Given the description of an element on the screen output the (x, y) to click on. 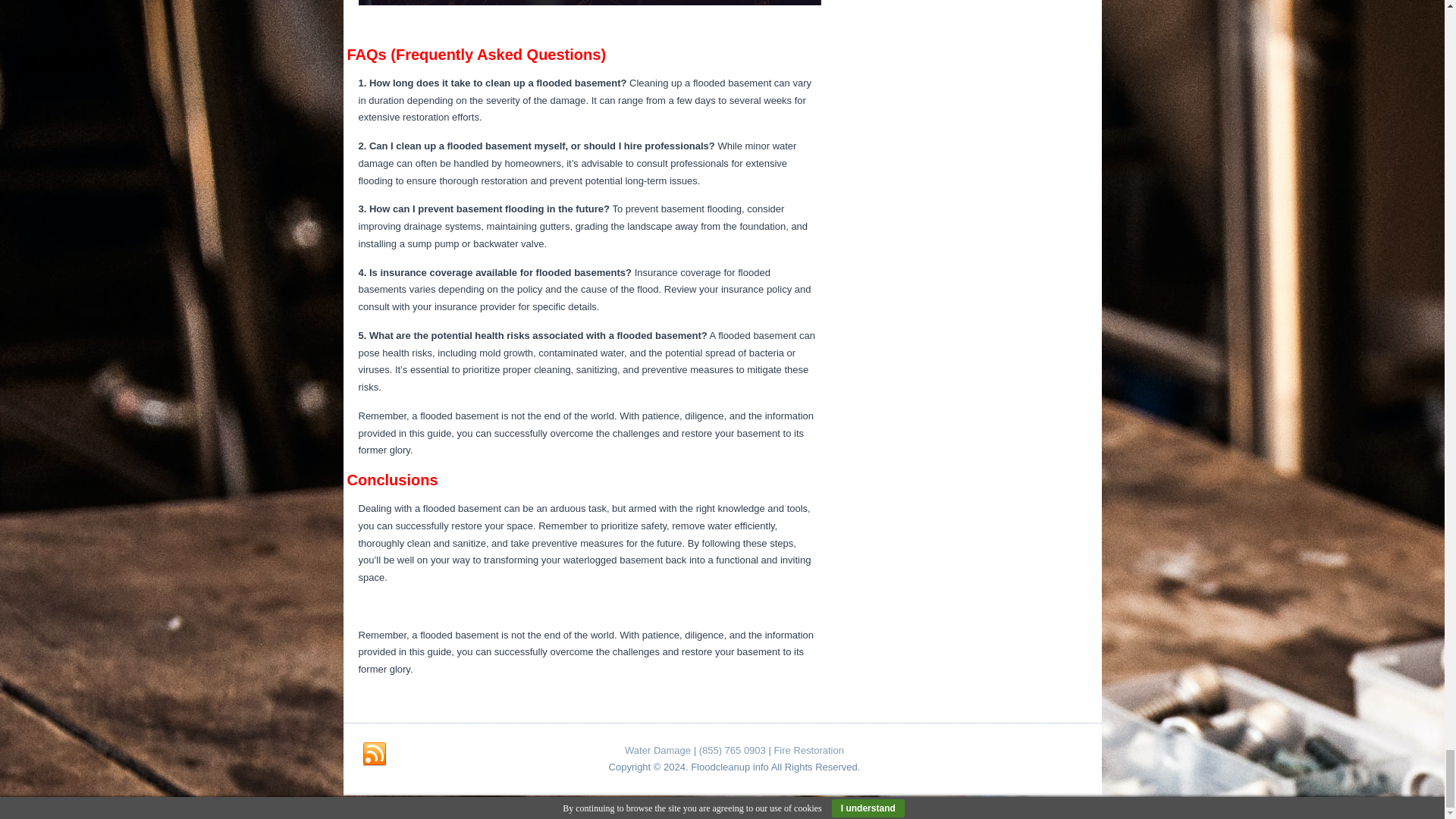
WordPress (677, 807)
Water Damage (657, 749)
Santa Clarita Flood Cleanup RSS Feed (374, 754)
Fire Restoration (808, 749)
Simple Affiliate WordPress Theme (770, 807)
